Given the description of an element on the screen output the (x, y) to click on. 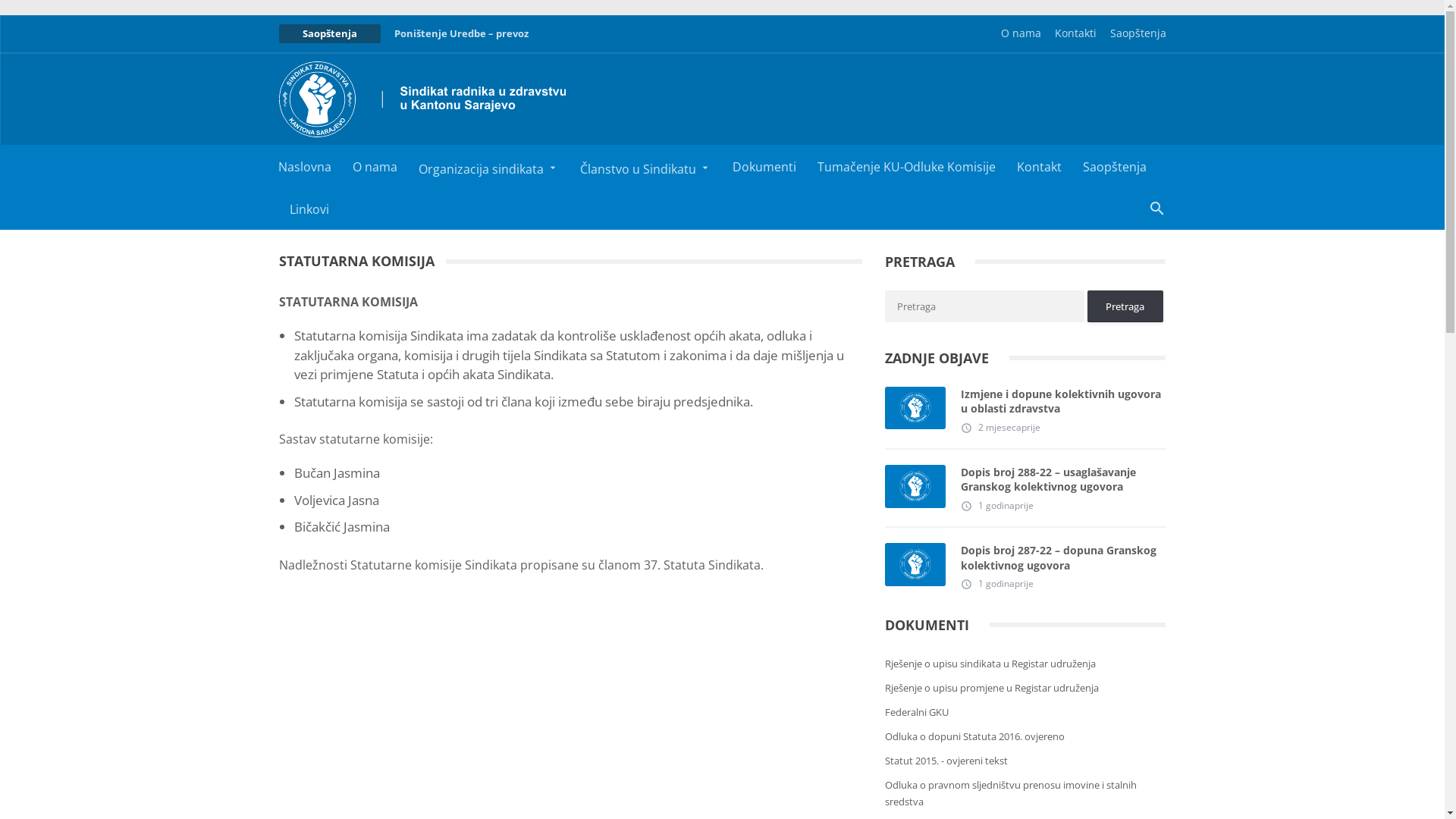
Naslovna Element type: text (303, 165)
O nama Element type: text (374, 165)
Kontakti Element type: text (1074, 32)
Kome smeta Sindikat radnika u zdravstvu u KS Element type: text (558, 32)
O nama Element type: text (1021, 32)
Statut 2015. - ovjereni tekst Element type: text (945, 760)
Pretraga Element type: text (1125, 306)
Odluka o dopuni Statuta 2016. ovjereno Element type: text (974, 736)
Izmjene i dopune kolektivnih ugovora u oblasti zdravstva Element type: text (1062, 401)
Federalni GKU Element type: text (916, 711)
Dokumenti Element type: text (763, 165)
Pretraga Element type: hover (984, 306)
search Element type: text (1157, 206)
Linkovi Element type: text (309, 208)
Organizacija sindikata Element type: text (488, 165)
Kontakt Element type: text (1038, 165)
